Given the description of an element on the screen output the (x, y) to click on. 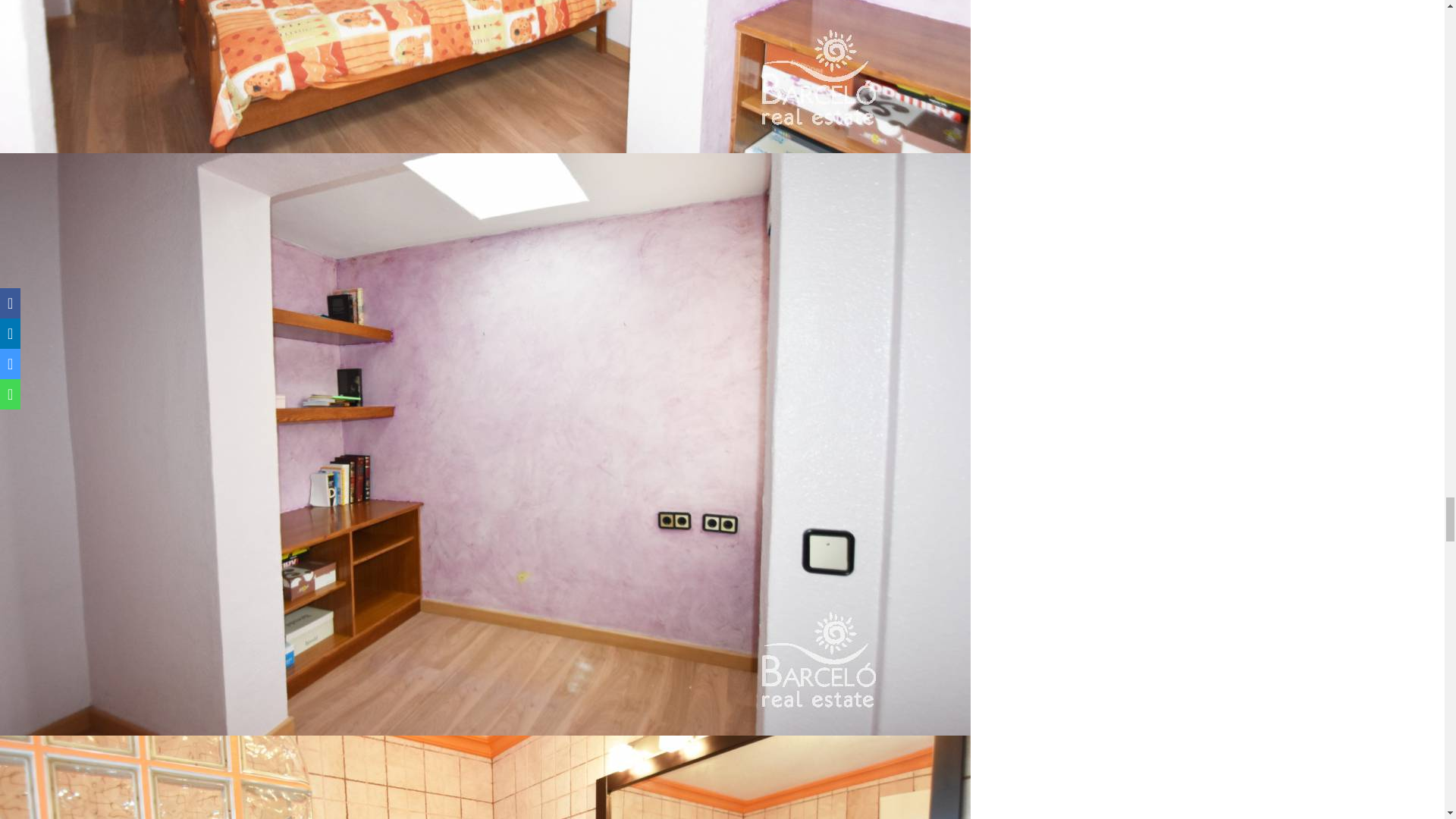
Resale - Attached - Los Montesinos - Center (485, 777)
